Given the description of an element on the screen output the (x, y) to click on. 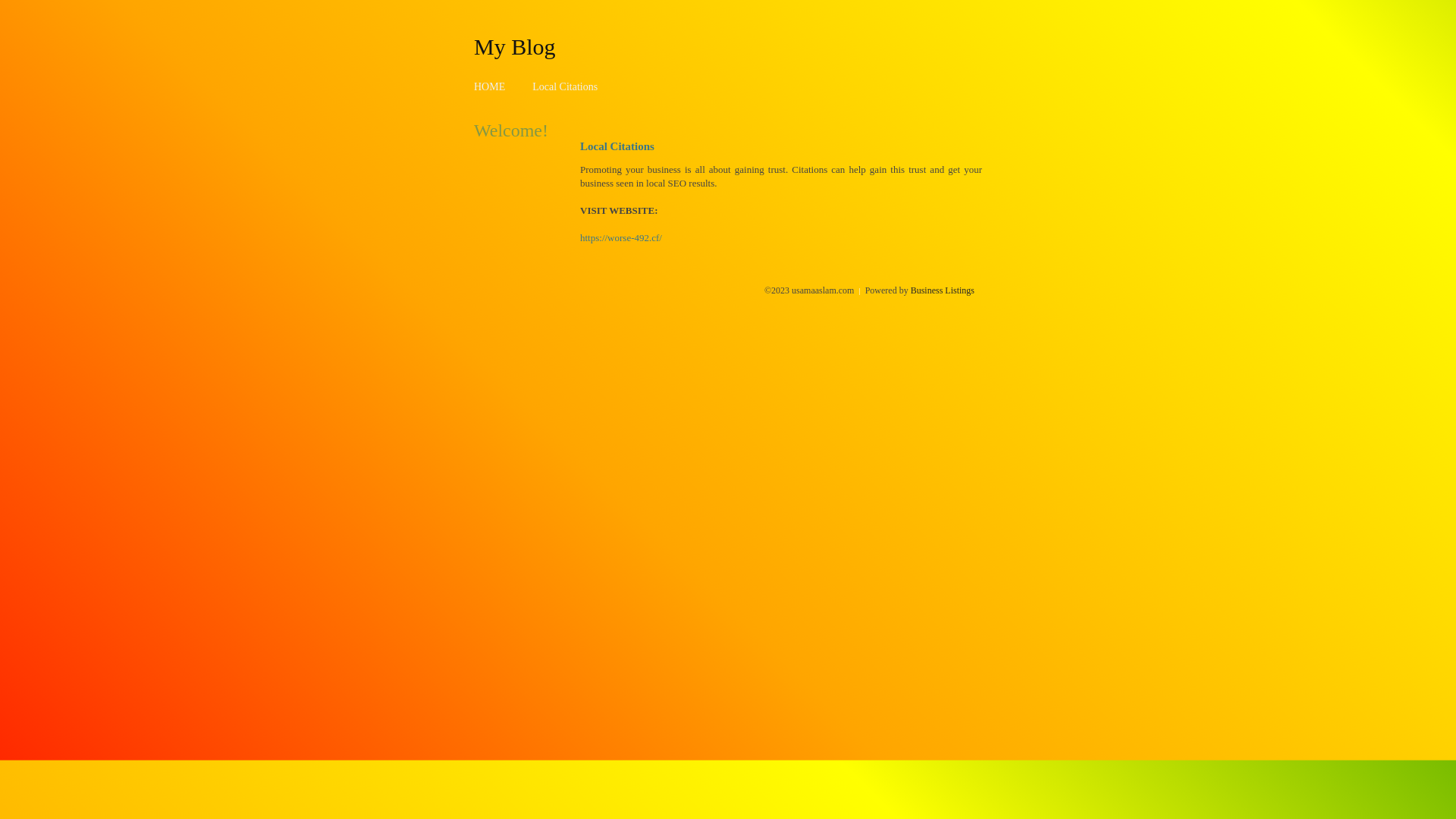
My Blog Element type: text (514, 46)
https://worse-492.cf/ Element type: text (621, 237)
HOME Element type: text (489, 86)
Local Citations Element type: text (564, 86)
Business Listings Element type: text (942, 290)
